Given the description of an element on the screen output the (x, y) to click on. 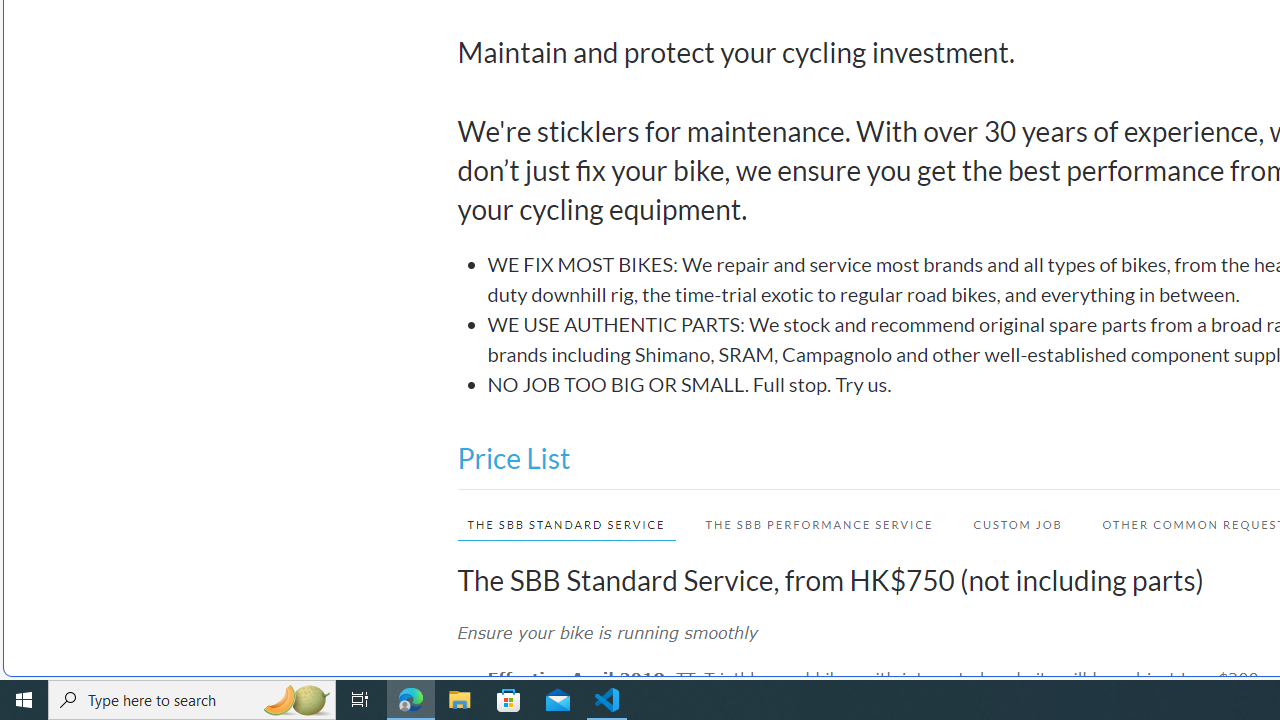
CUSTOM JOB (1007, 524)
THE SBB STANDARD SERVICE (565, 524)
THE SBB STANDARD SERVICE (555, 524)
CUSTOM JOB (1017, 524)
THE SBB PERFORMANCE SERVICE (819, 524)
THE SBB PERFORMANCE SERVICE (809, 524)
